Given the description of an element on the screen output the (x, y) to click on. 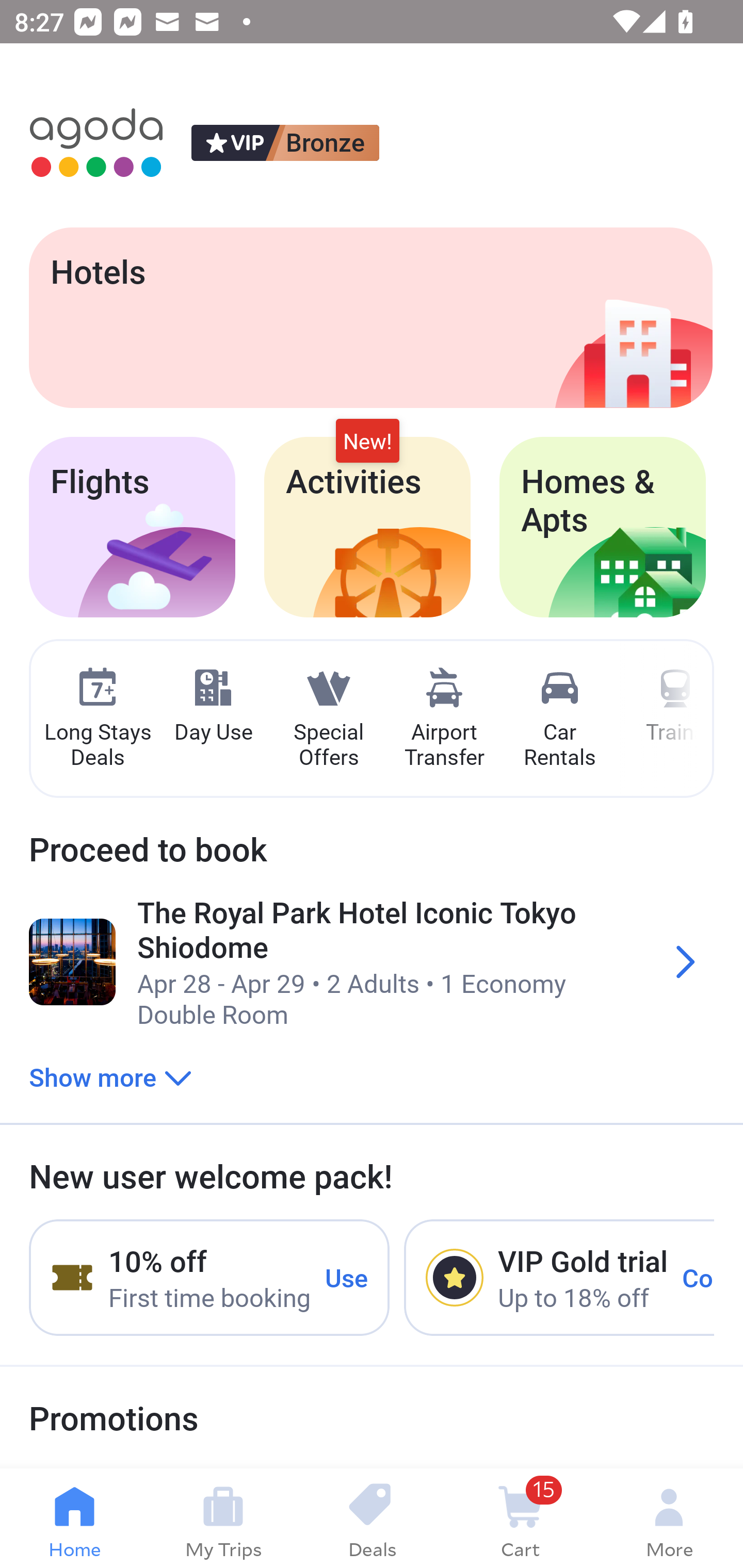
Hotels (370, 317)
New! (367, 441)
Flights (131, 527)
Activities (367, 527)
Homes & Apts (602, 527)
Day Use (213, 706)
Long Stays Deals (97, 718)
Special Offers (328, 718)
Airport Transfer (444, 718)
Car Rentals (559, 718)
Show more (110, 1076)
Use (346, 1277)
Home (74, 1518)
My Trips (222, 1518)
Deals (371, 1518)
15 Cart (519, 1518)
More (668, 1518)
